Given the description of an element on the screen output the (x, y) to click on. 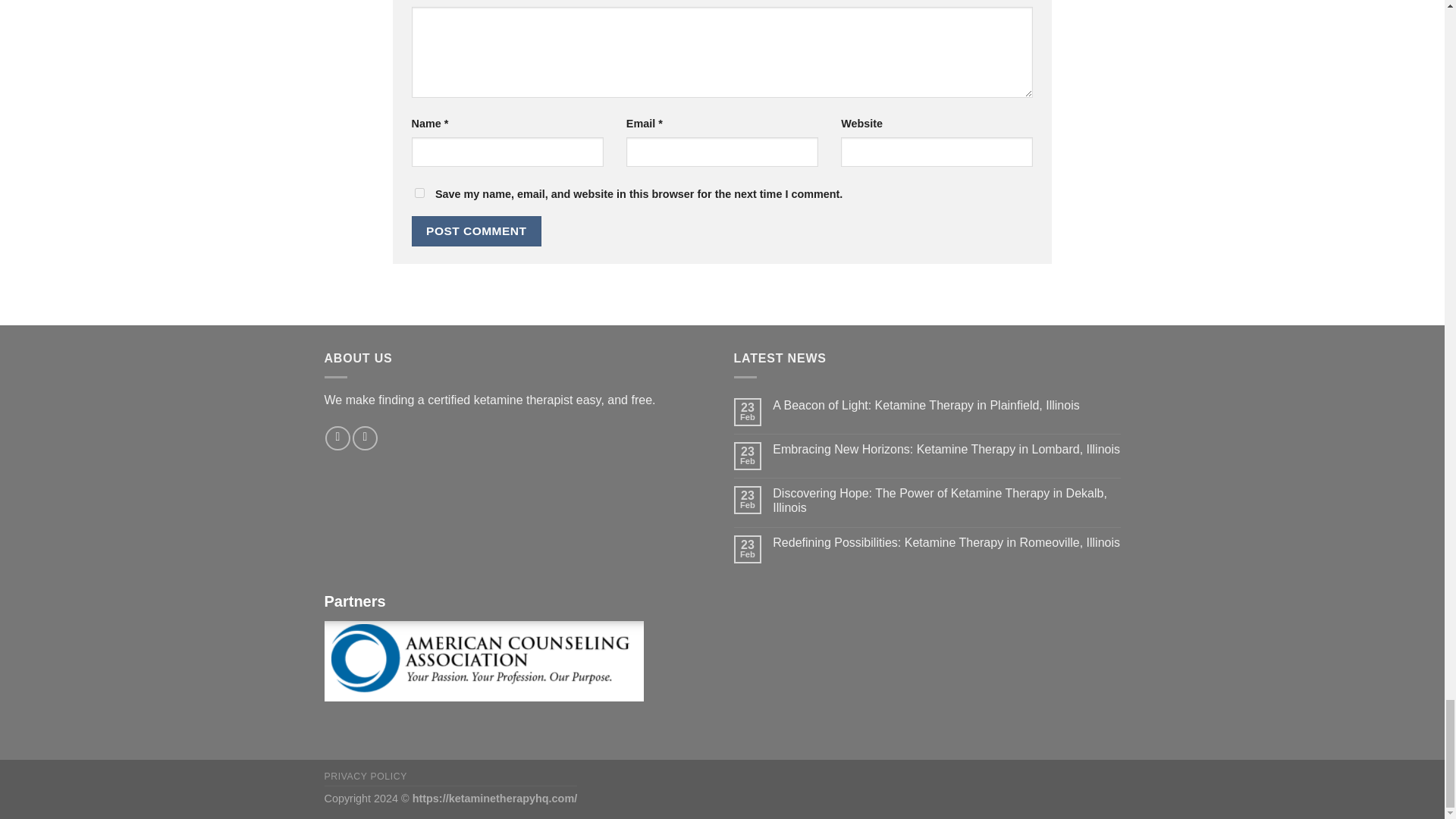
yes (418, 193)
Post Comment (475, 230)
Follow on Facebook (337, 438)
Send us an email (364, 438)
A Beacon of Light: Ketamine Therapy in Plainfield, Illinois (946, 405)
